Given the description of an element on the screen output the (x, y) to click on. 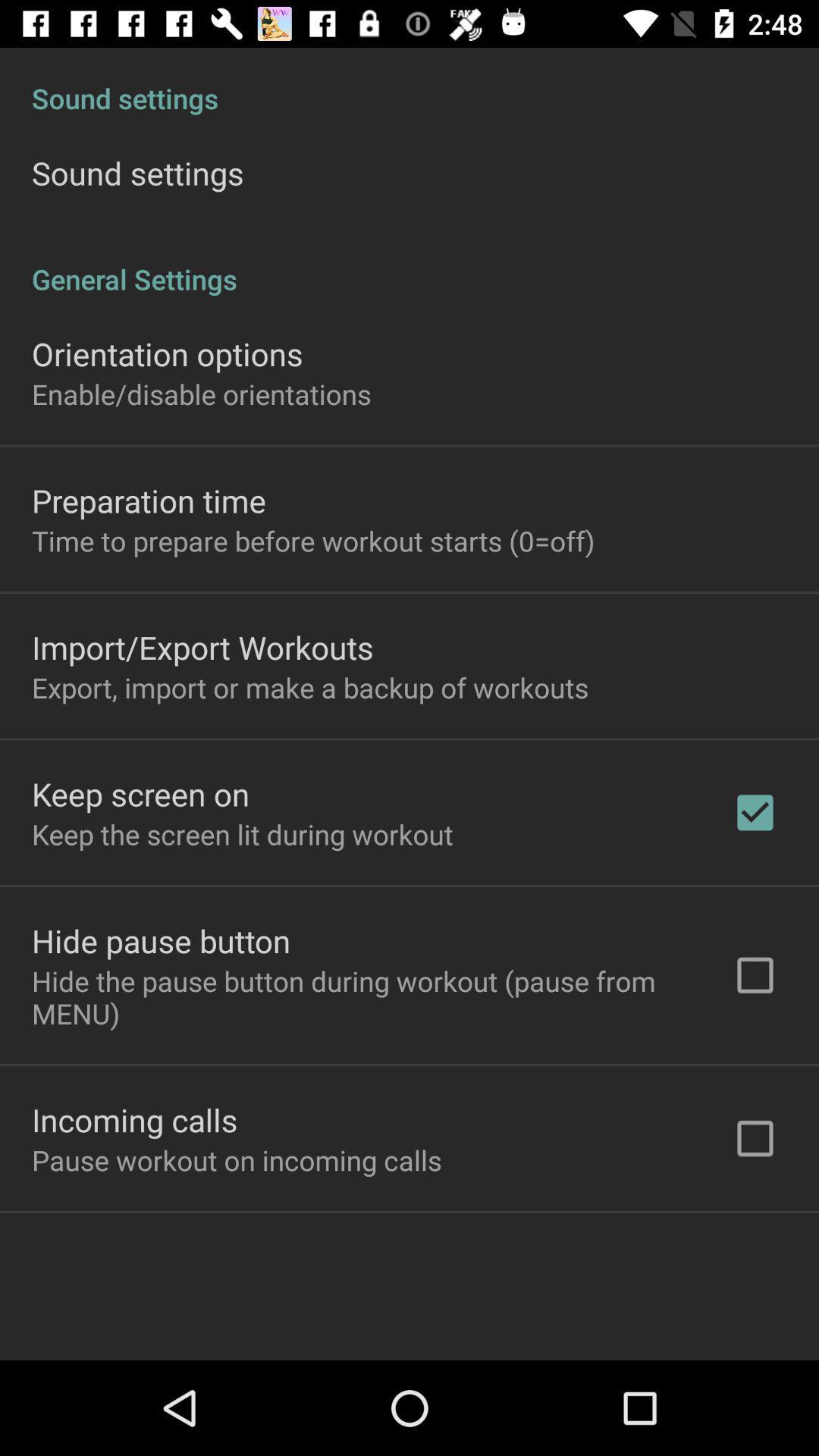
turn off app below preparation time app (312, 540)
